Given the description of an element on the screen output the (x, y) to click on. 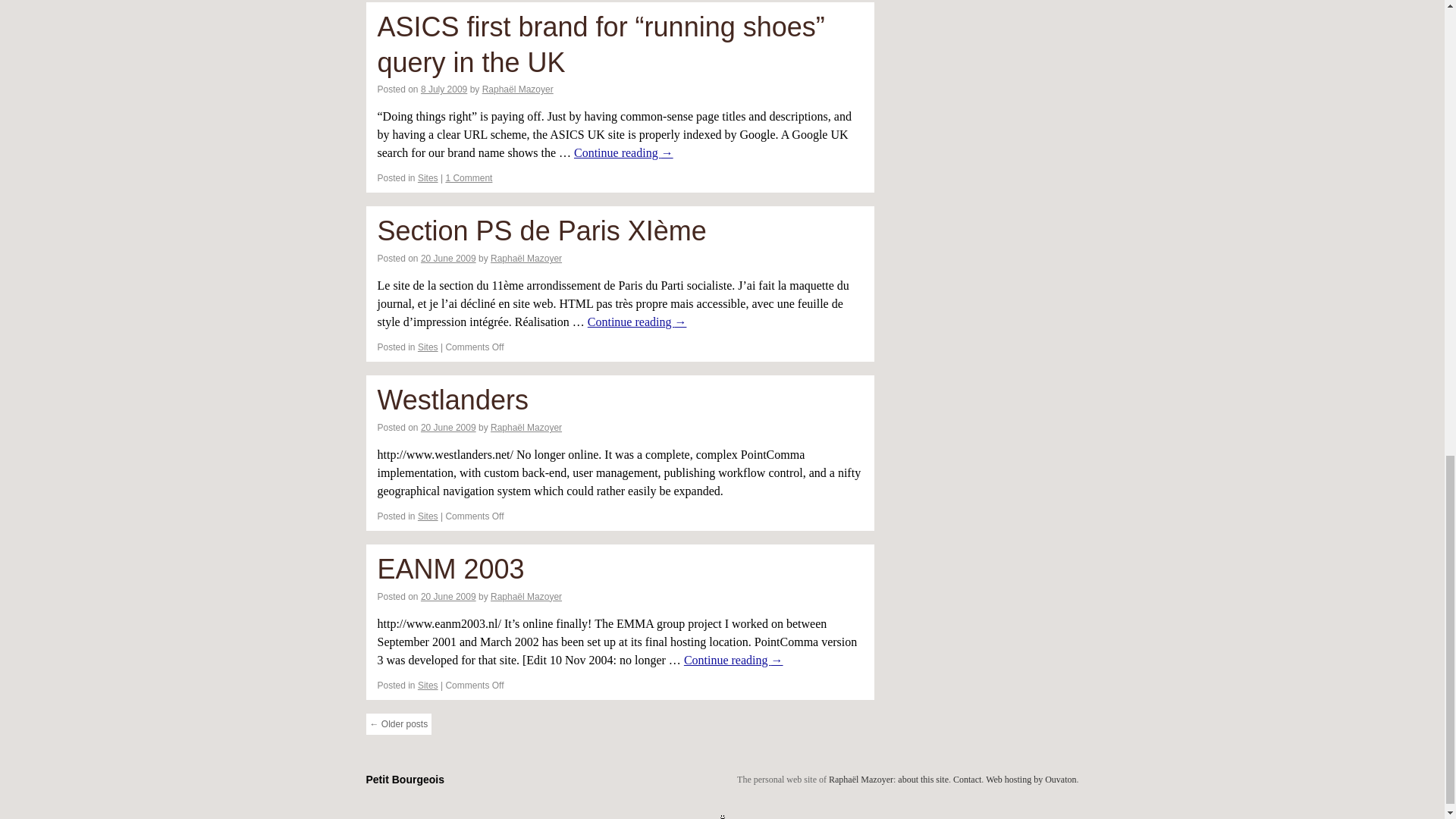
1 Comment (468, 177)
Sites (427, 177)
20 June 2009 (448, 258)
8 July 2009 (443, 89)
